Given the description of an element on the screen output the (x, y) to click on. 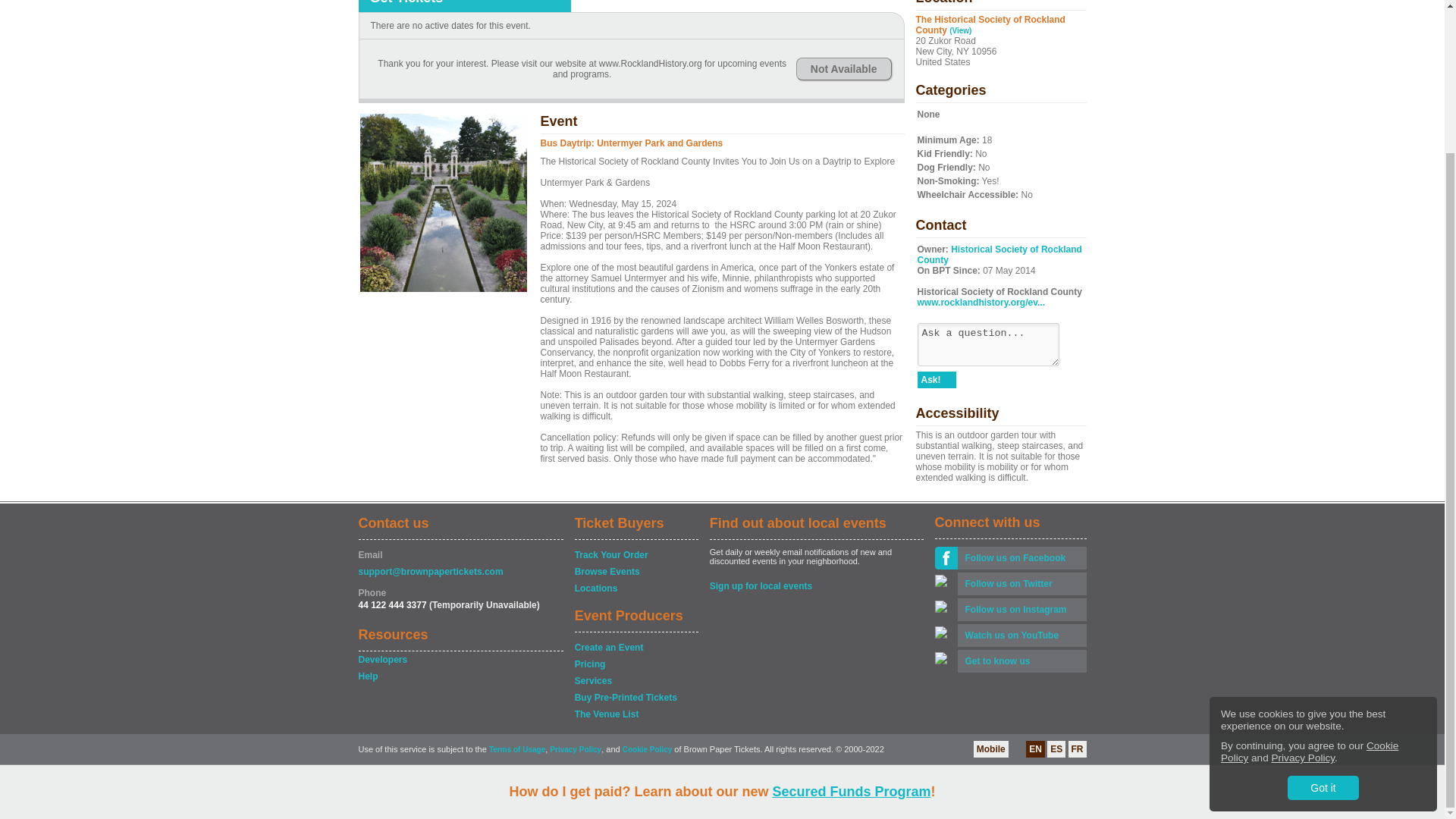
Buy Pre-Printed Tickets (636, 697)
Cookie Policy (1309, 574)
Sign up for local events (816, 585)
Privacy Policy (1303, 580)
Not Available (843, 68)
Create an Event (636, 647)
Follow us on Twitter (1021, 583)
Secured Funds Program (850, 613)
Track Your Order (636, 554)
Browse Events (636, 571)
